Given the description of an element on the screen output the (x, y) to click on. 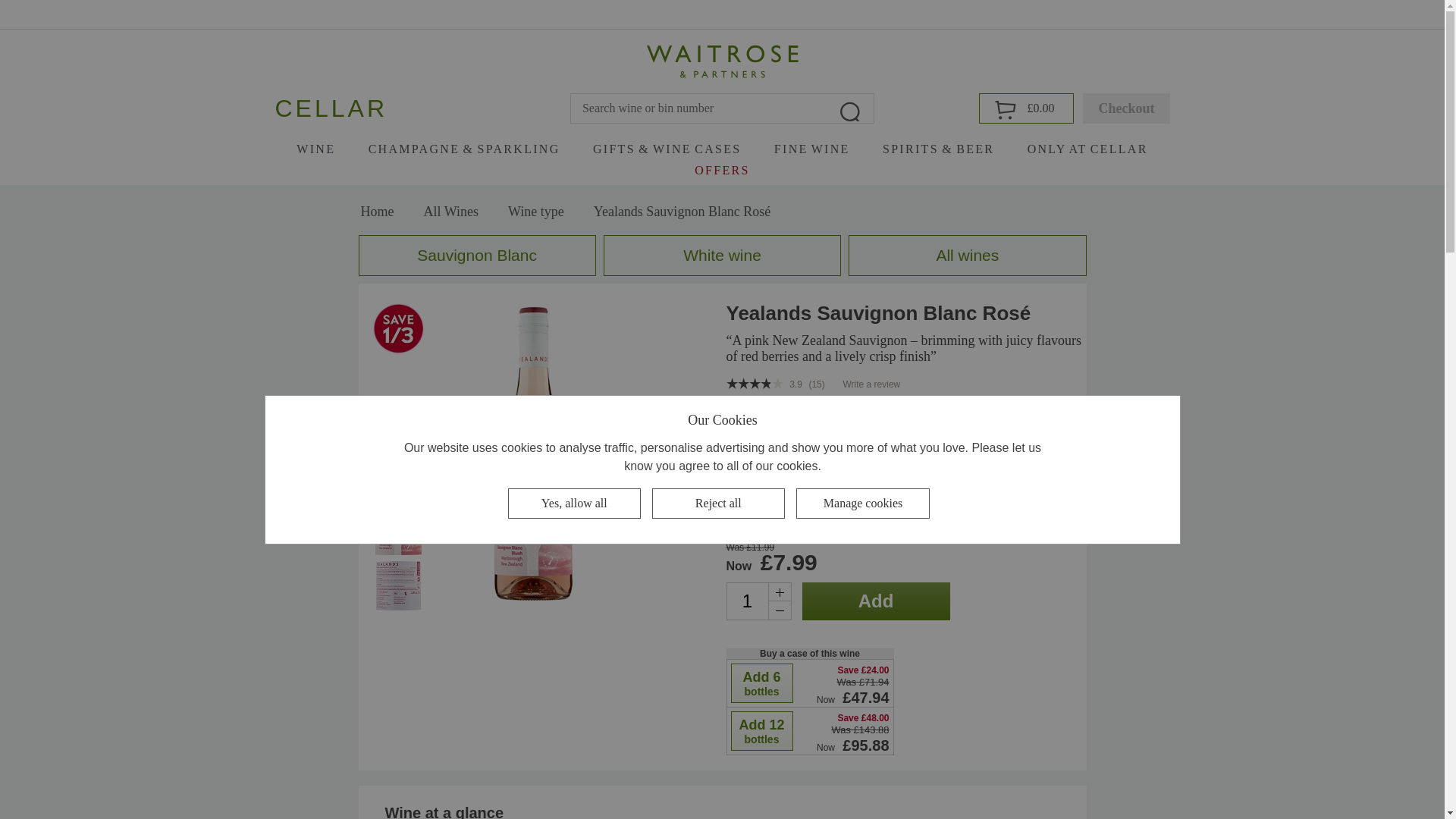
Search wine or bin number (849, 108)
Search wine or bin number (722, 108)
Search wine or bin number (722, 108)
1 (758, 600)
WINE (315, 152)
Go To Trolley (1028, 108)
CELLAR (331, 108)
Manage cookies (861, 503)
Waitrose Cellar (721, 61)
Yes, allow all (573, 503)
Waitrose (721, 61)
Reject all (717, 503)
